Given the description of an element on the screen output the (x, y) to click on. 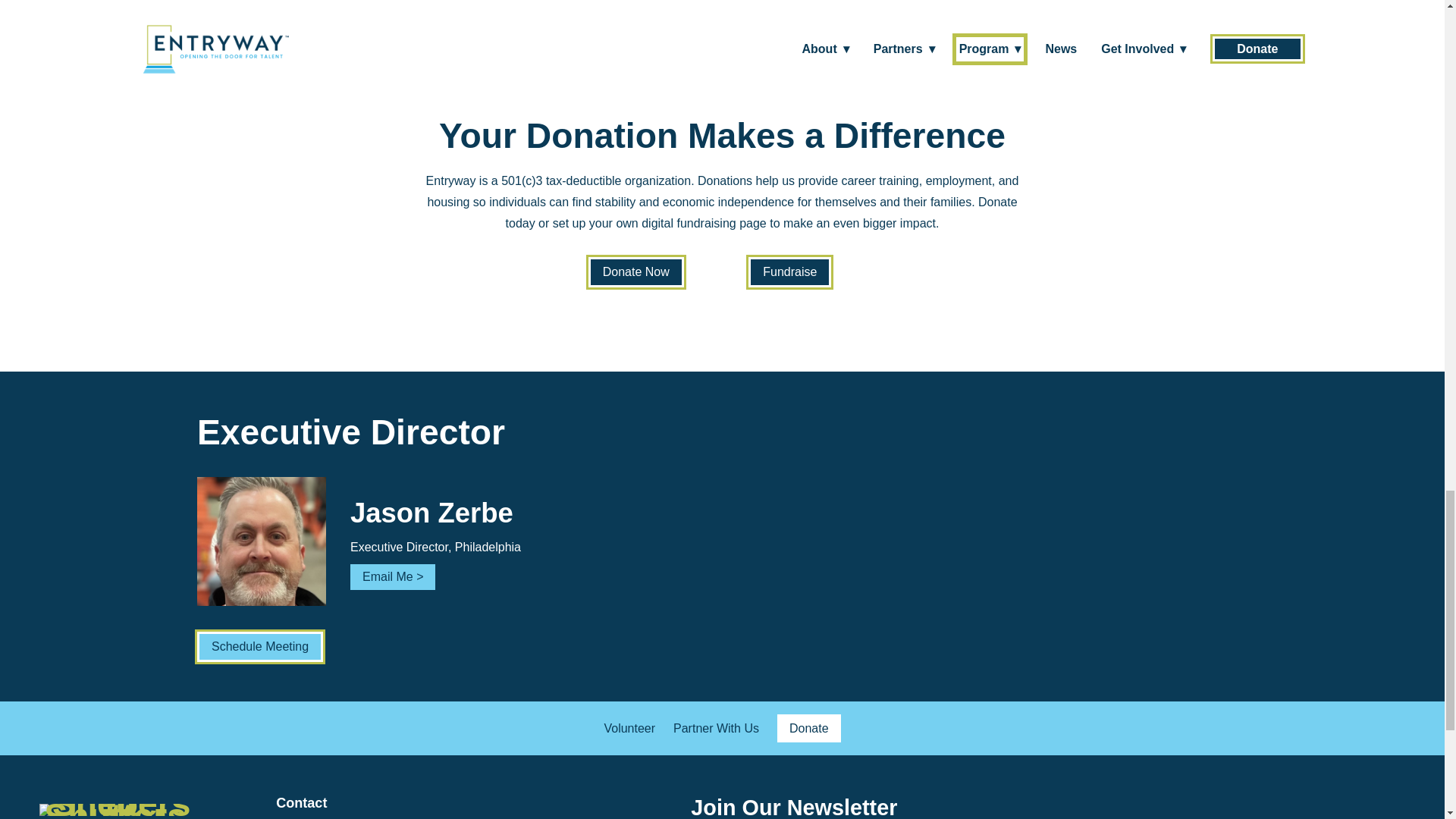
external link opens in a new tab (259, 646)
Donate Now (636, 272)
external link opens in a new tab (789, 272)
external link opens in a new tab (636, 272)
Schedule 30 Minute Intro Meeting with Jason (721, 19)
